Given the description of an element on the screen output the (x, y) to click on. 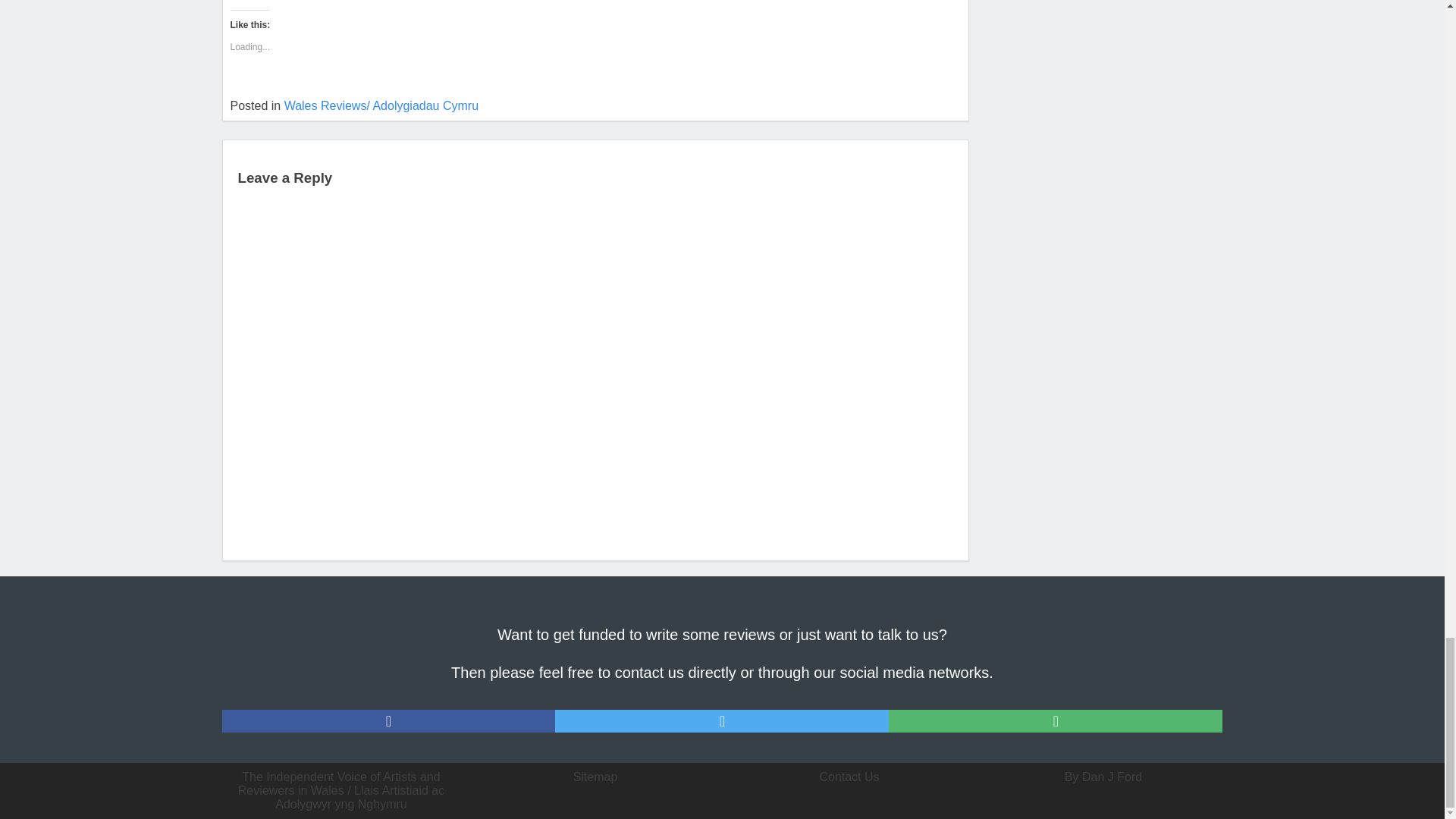
Arts Scene in Wales Facebook (387, 721)
Arts Scene in Wales Twitter (721, 721)
Arts Scene in Wales Contact Page (1055, 721)
